Given the description of an element on the screen output the (x, y) to click on. 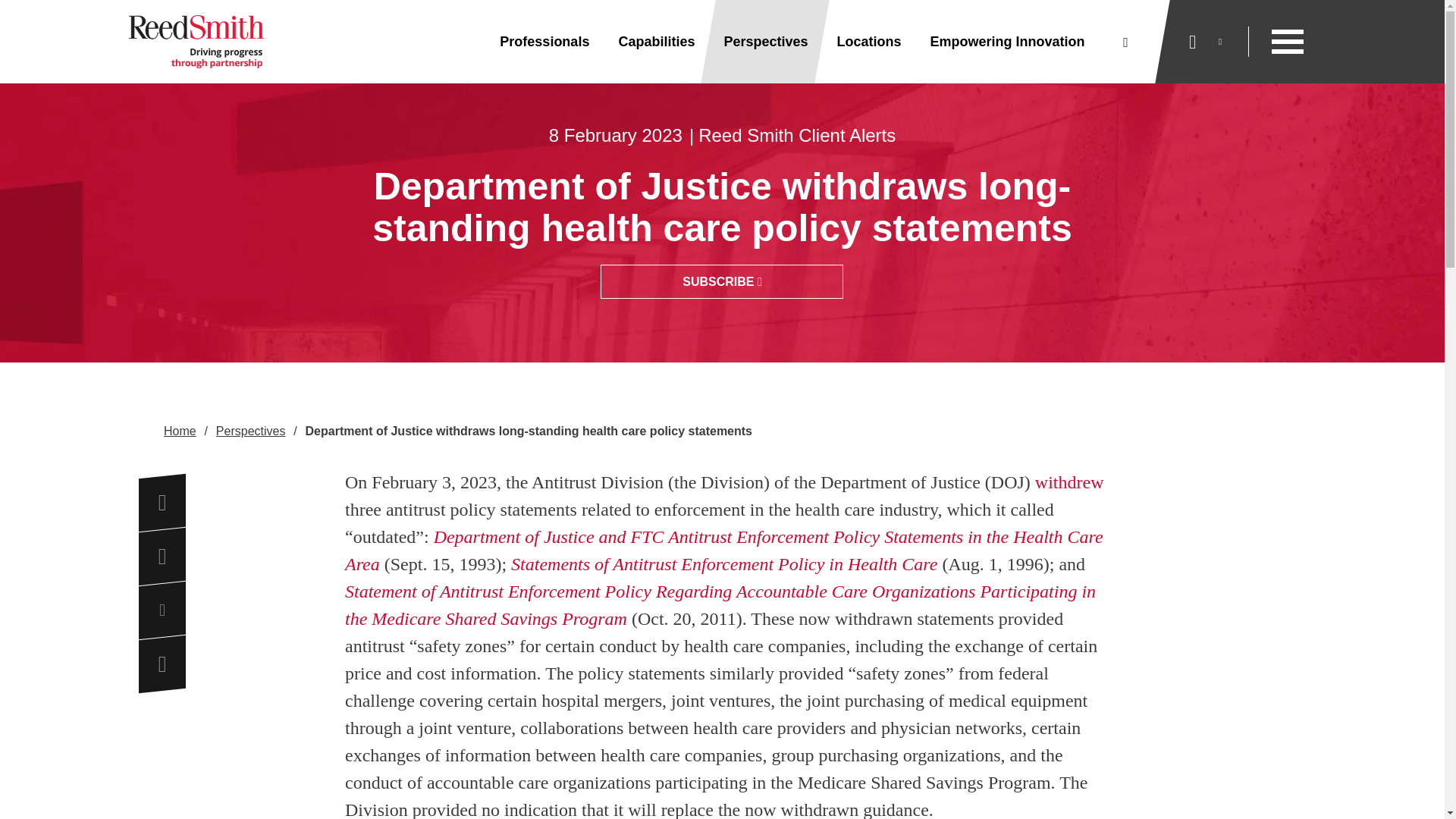
Capabilities (656, 41)
DOJ Statement (1069, 482)
Professionals (544, 41)
